Given the description of an element on the screen output the (x, y) to click on. 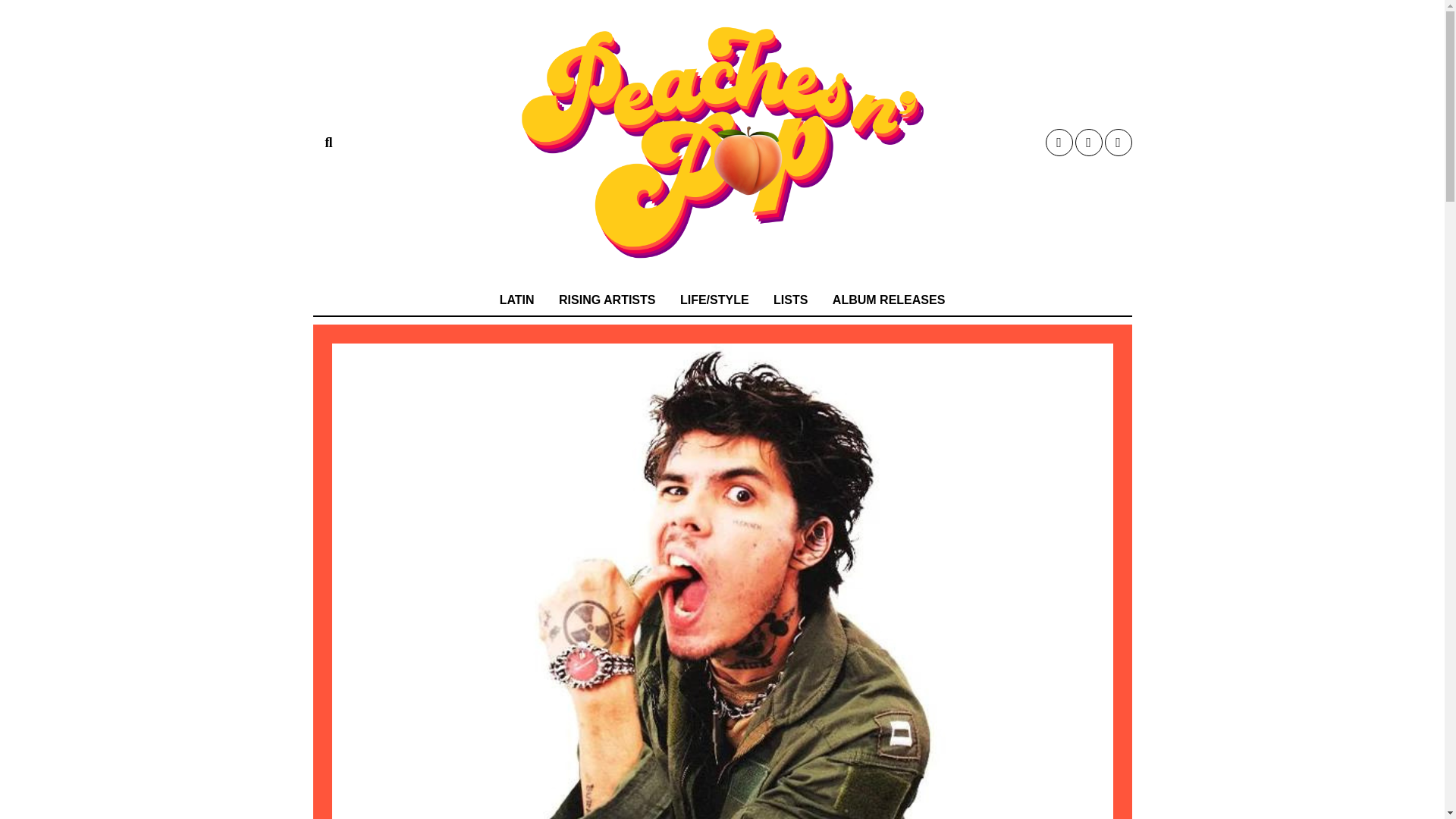
RISING ARTISTS (606, 300)
Twitter (1058, 142)
ALBUM RELEASES (888, 300)
LATIN (516, 300)
Instagram (1088, 142)
LISTS (790, 300)
Spotify (1117, 142)
